Given the description of an element on the screen output the (x, y) to click on. 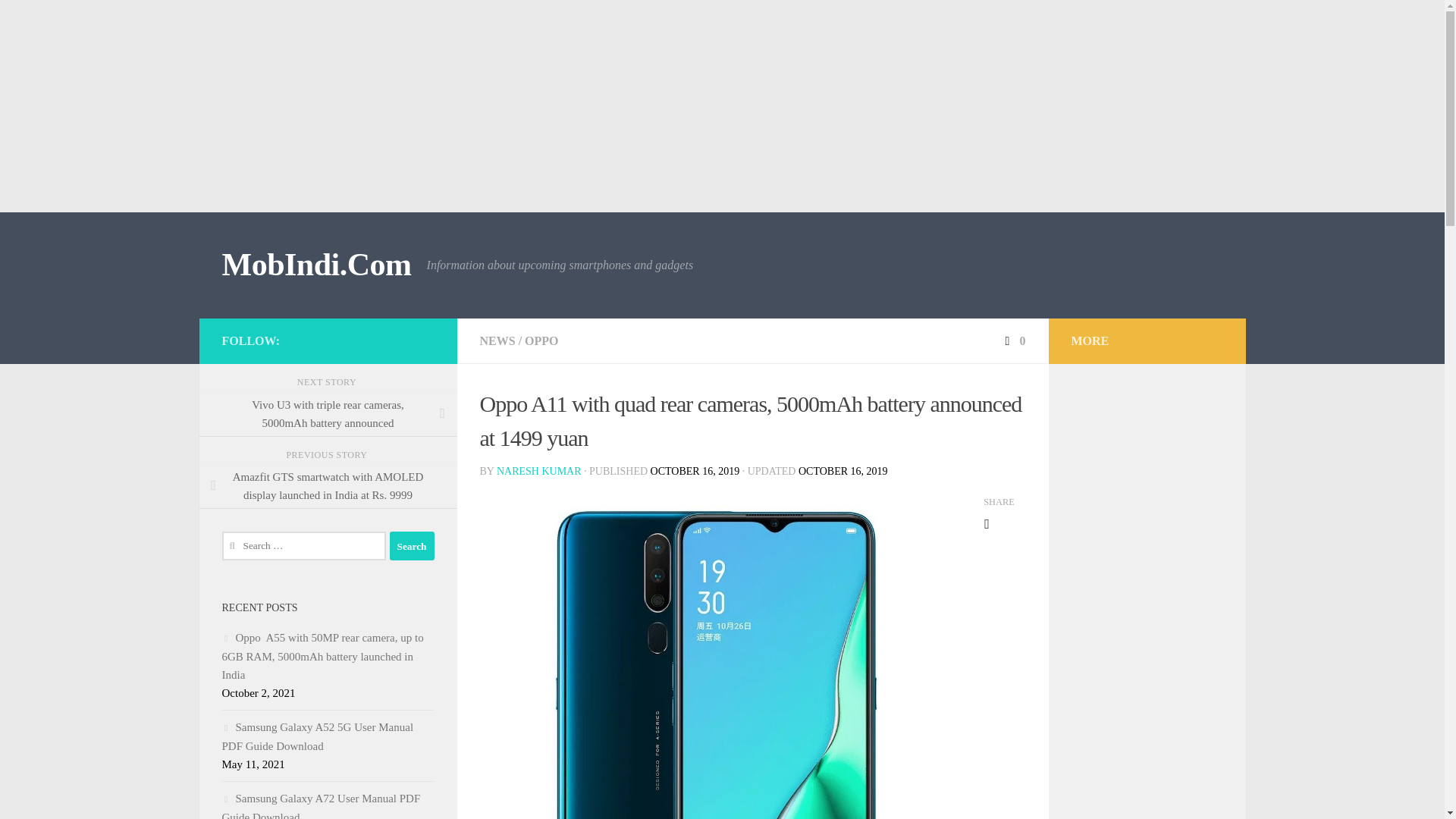
Posts by Naresh Kumar (538, 471)
NARESH KUMAR (538, 471)
NEWS (497, 340)
Vivo U3 with triple rear cameras, 5000mAh battery announced (327, 413)
0 (1013, 340)
Samsung Galaxy A52 5G User Manual PDF Guide Download (317, 736)
Samsung Galaxy A72 User Manual PDF Guide Download (320, 805)
Skip to content (59, 20)
OPPO (540, 340)
MobIndi.Com (315, 265)
Search (411, 545)
Search (411, 545)
